Given the description of an element on the screen output the (x, y) to click on. 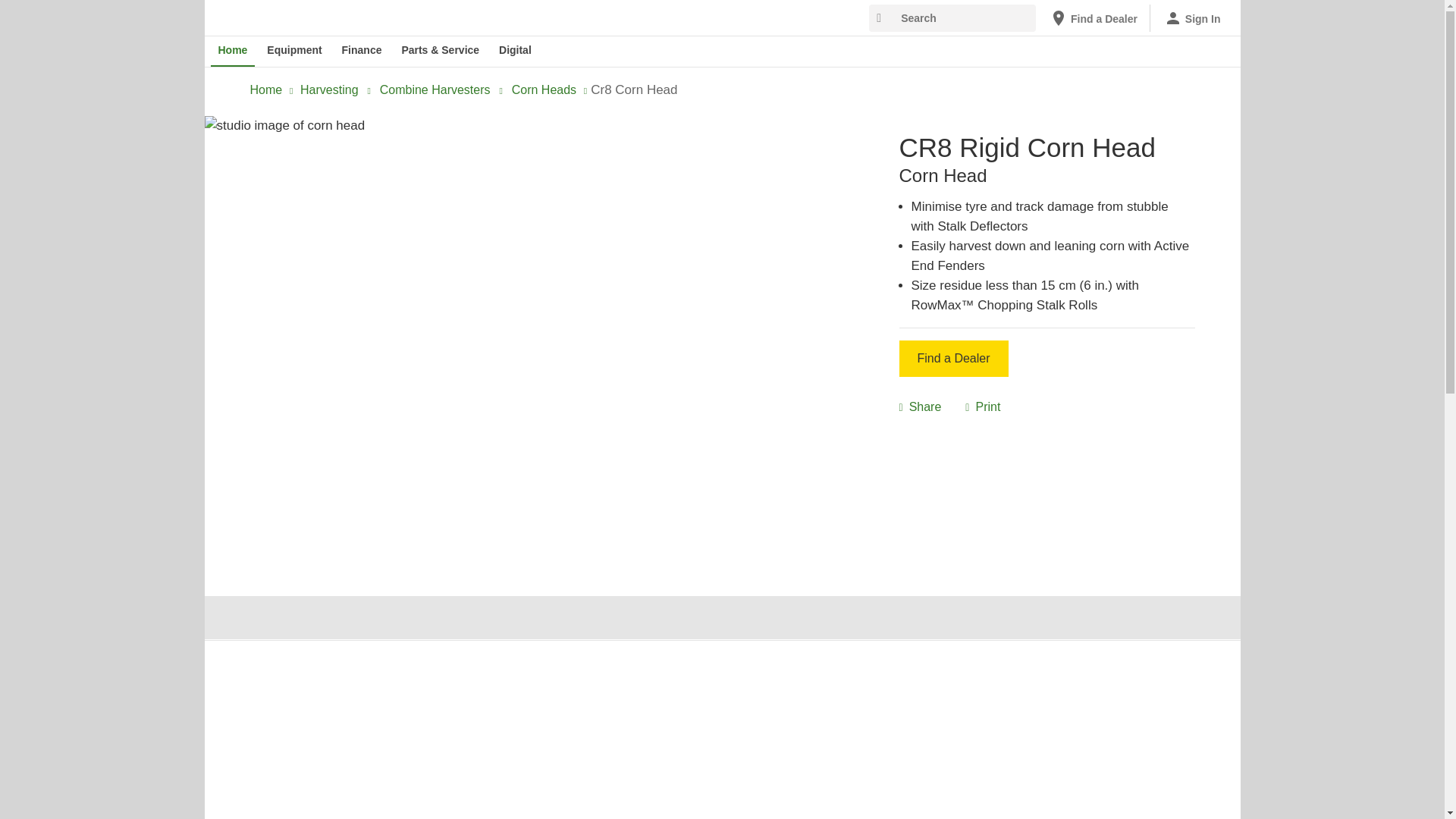
Finance (362, 51)
Sign In (1192, 17)
Equipment (294, 51)
John Deere (288, 17)
Home (233, 51)
Find a Dealer (1093, 17)
Digital (515, 51)
Skip to main content (214, 11)
